Given the description of an element on the screen output the (x, y) to click on. 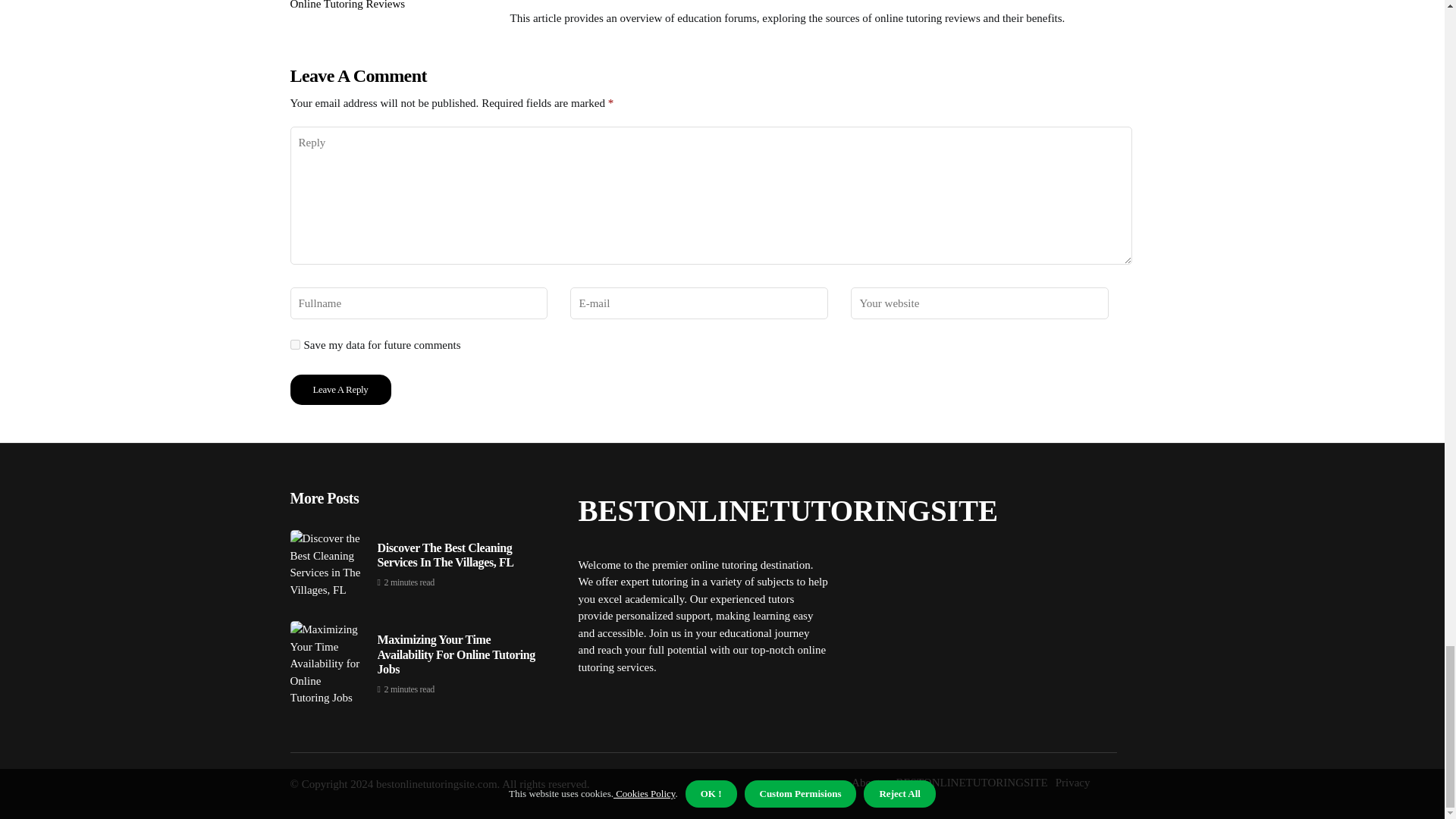
yes (294, 344)
Leave a Reply (339, 389)
Posts by Joe Robbins (537, 1)
